Given the description of an element on the screen output the (x, y) to click on. 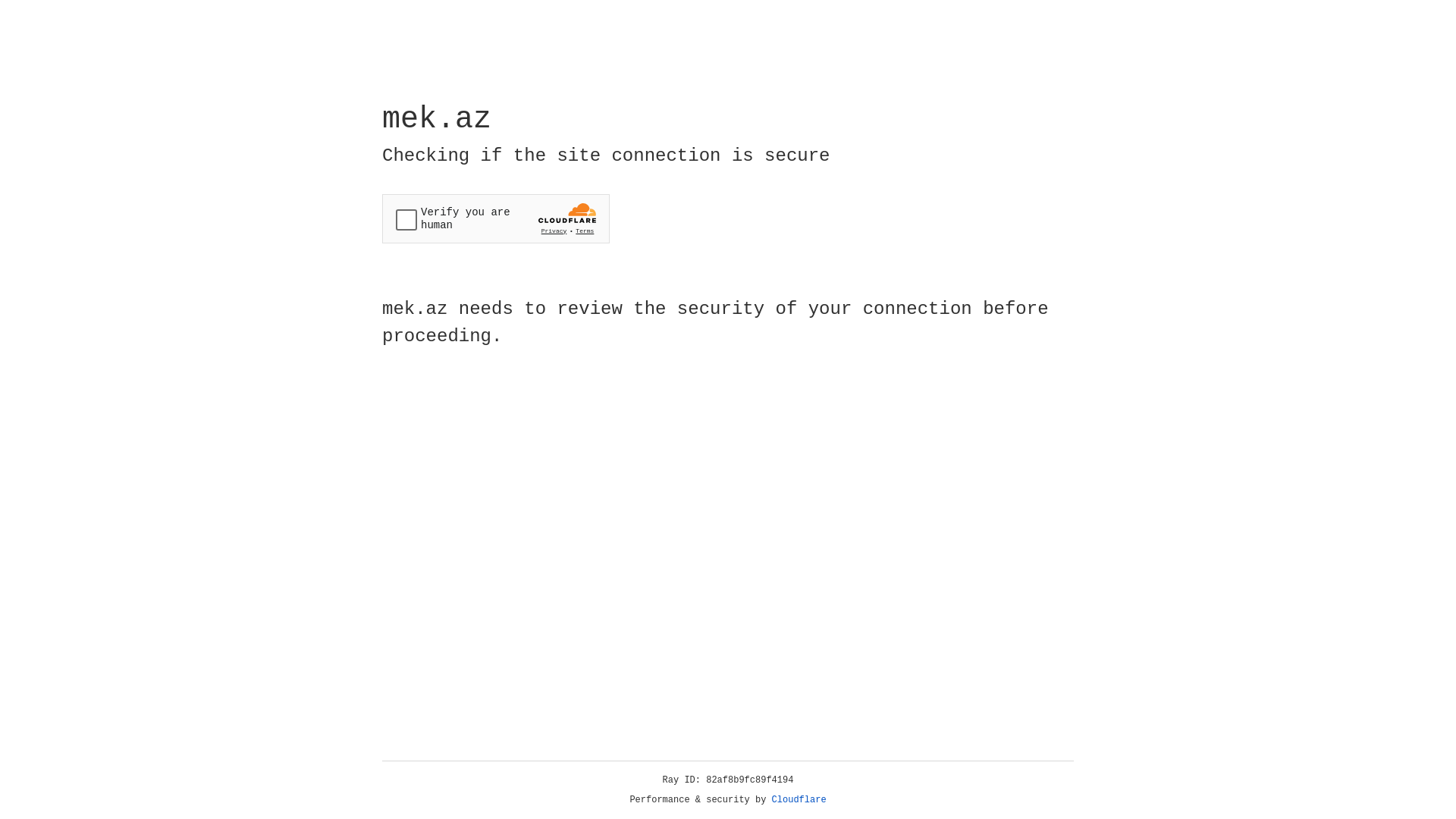
Widget containing a Cloudflare security challenge Element type: hover (495, 218)
Cloudflare Element type: text (798, 799)
